Given the description of an element on the screen output the (x, y) to click on. 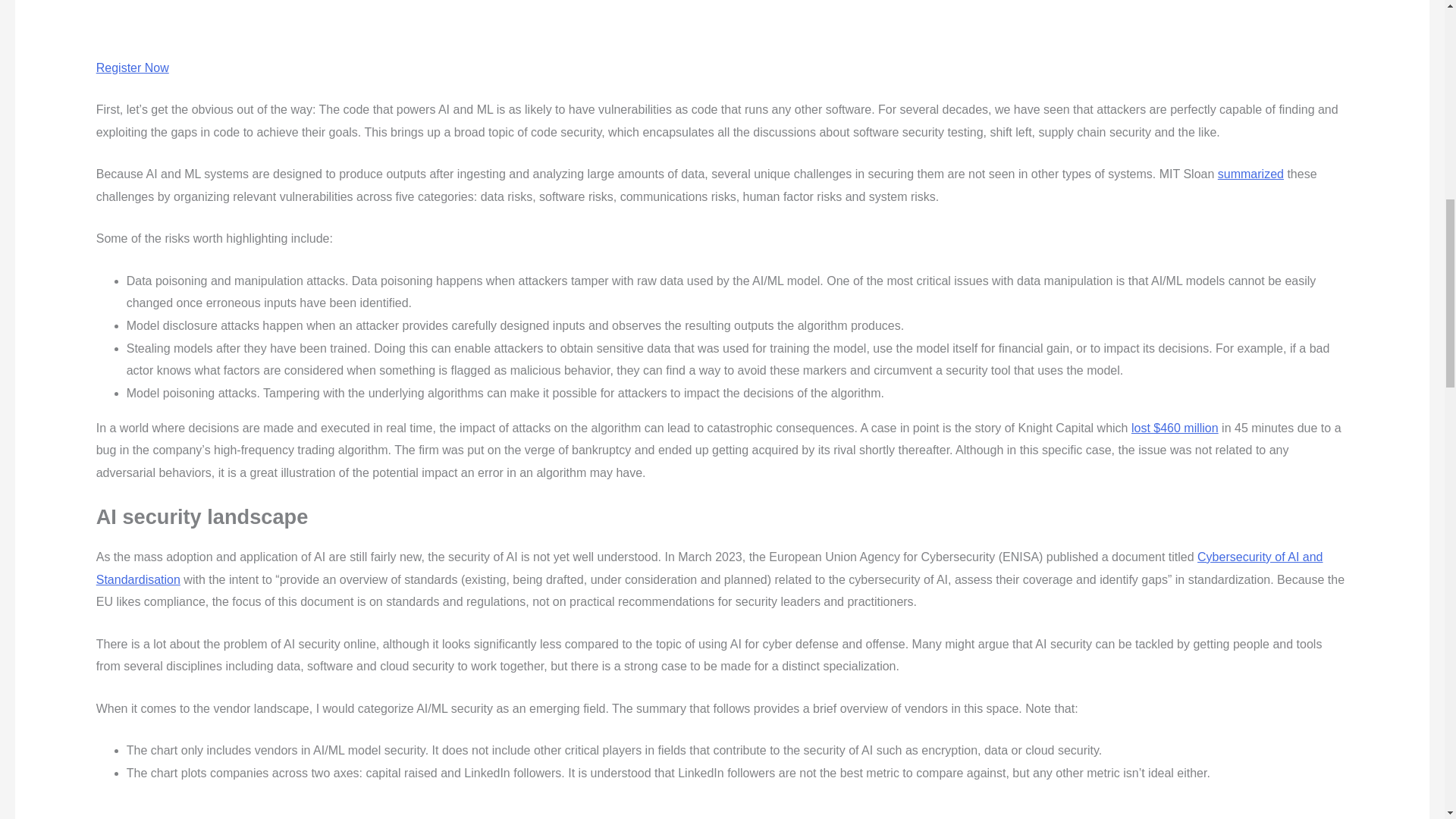
Cybersecurity of AI and Standardisation (709, 568)
summarized (1250, 173)
Register Now (132, 79)
